Given the description of an element on the screen output the (x, y) to click on. 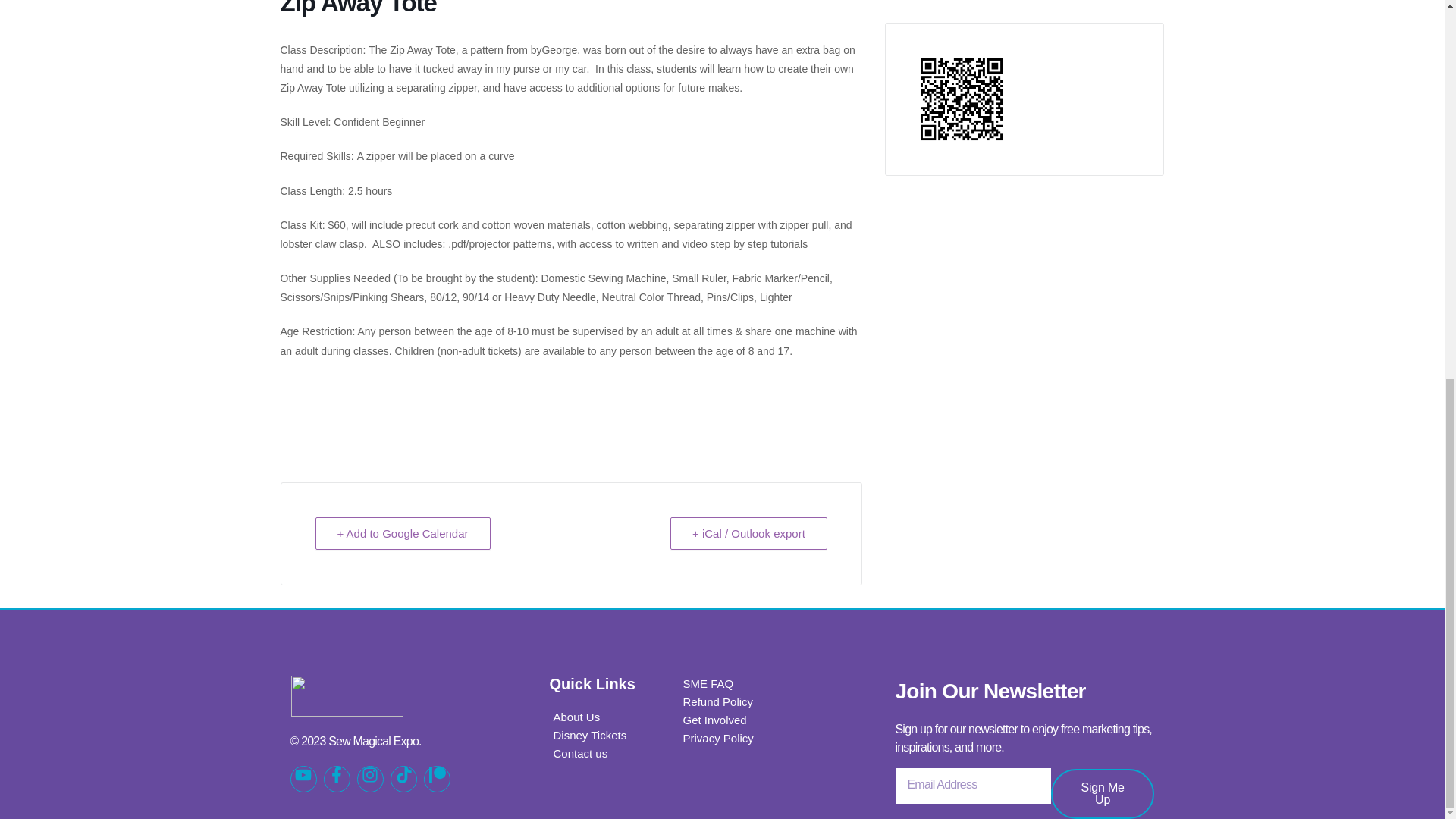
Disney Tickets (590, 735)
Contact us (580, 753)
Privacy Policy (717, 738)
About Us (576, 717)
SME FAQ (707, 683)
Refund Policy (717, 701)
Get Involved (713, 720)
